Given the description of an element on the screen output the (x, y) to click on. 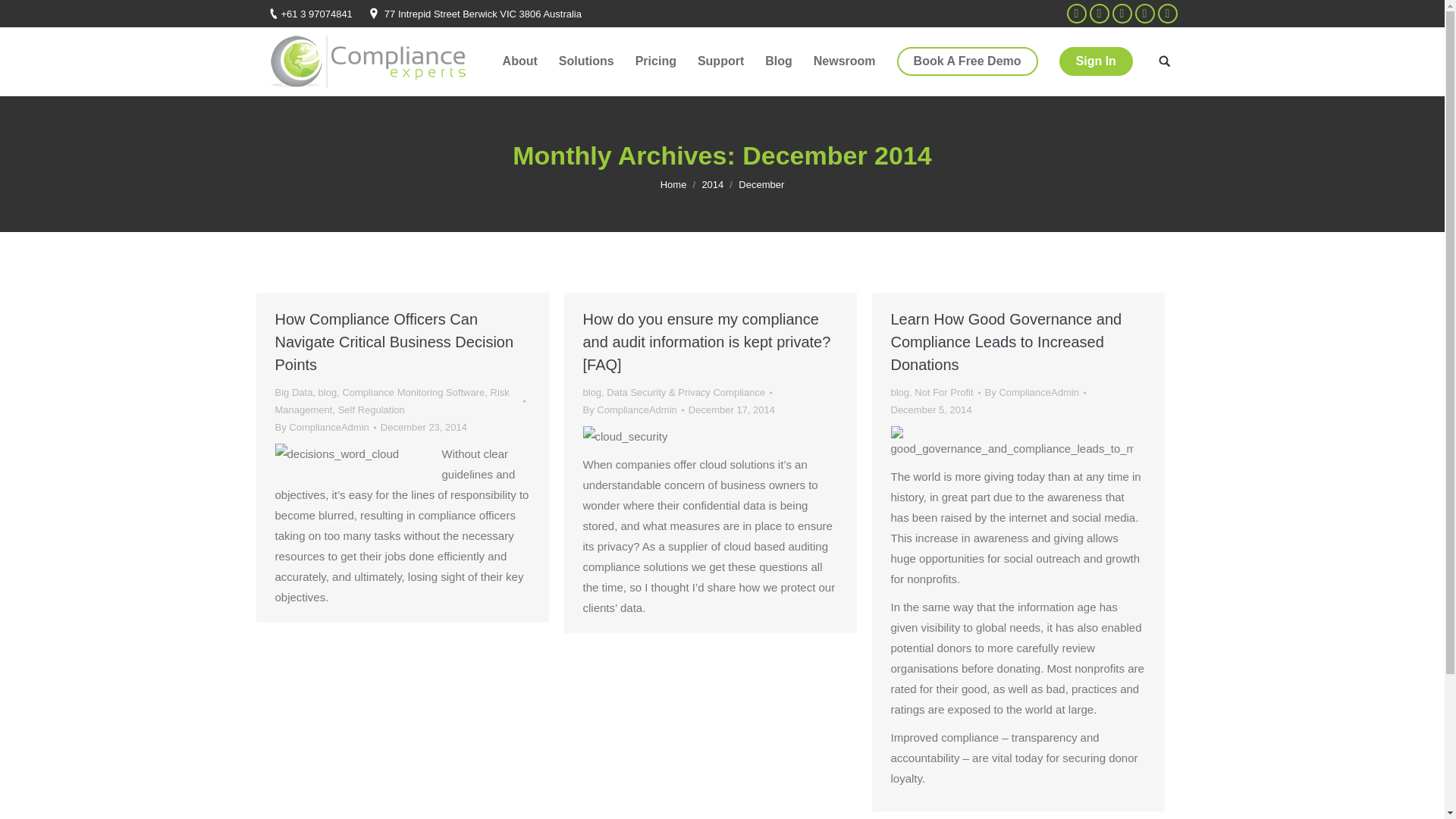
Linkedin (1144, 13)
Pricing (655, 60)
Facebook (1075, 13)
About (519, 60)
Mail (1166, 13)
Sign In (1096, 60)
Support (720, 60)
Go! (22, 14)
YouTube (1121, 13)
Linkedin (1144, 13)
Twitter (1098, 13)
Facebook (1075, 13)
Twitter (1098, 13)
Book A Free Demo (967, 60)
